Given the description of an element on the screen output the (x, y) to click on. 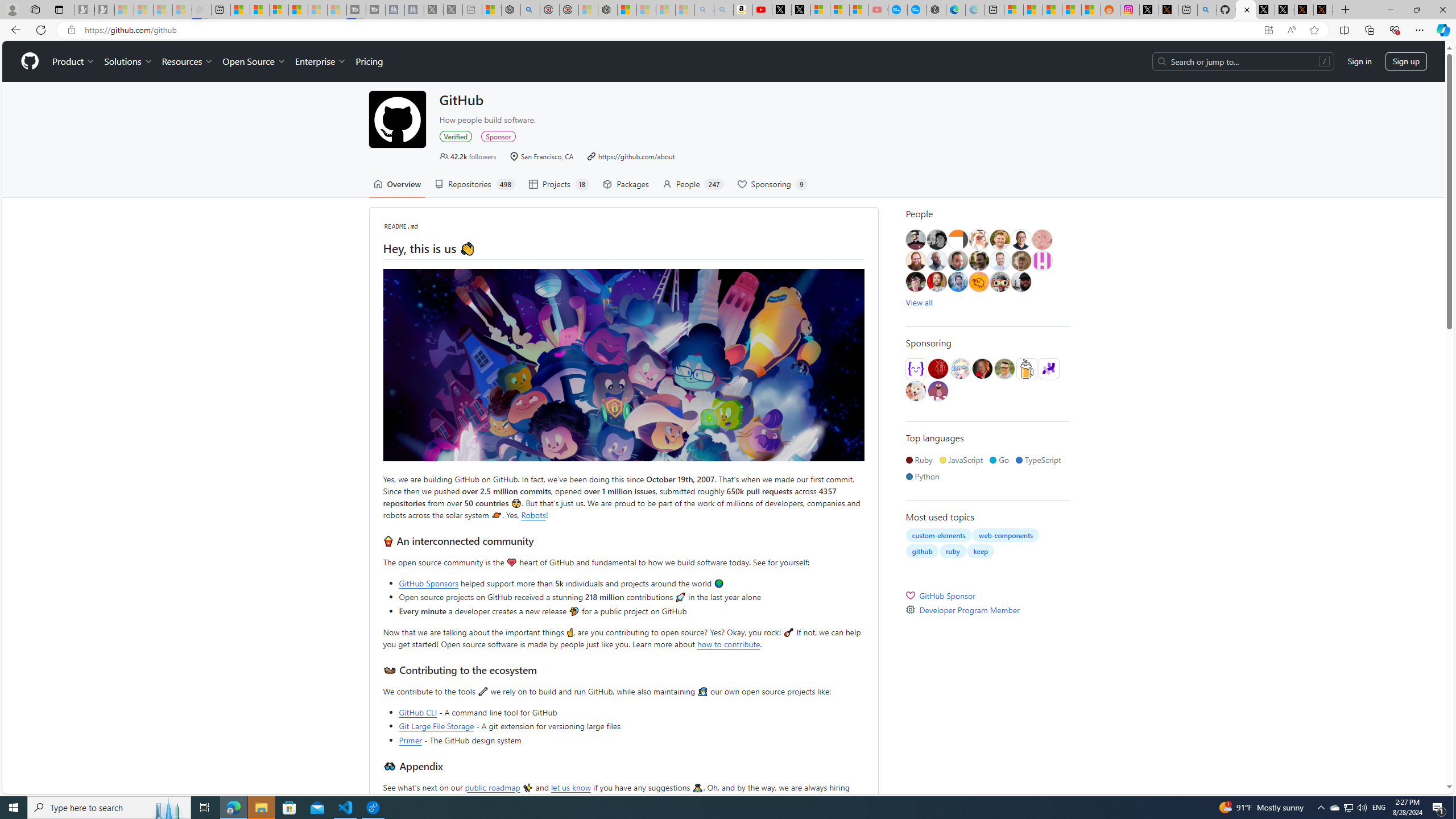
@omgitsads (978, 260)
Git Large File Storage (436, 726)
Nordace - Nordace Siena Is Not An Ordinary Backpack (606, 9)
join our team (515, 799)
Developer Program Member (987, 609)
@sbryant (1042, 260)
@digitarald (936, 281)
@sindresorhus (915, 390)
@processing (1048, 368)
@github (397, 119)
